Given the description of an element on the screen output the (x, y) to click on. 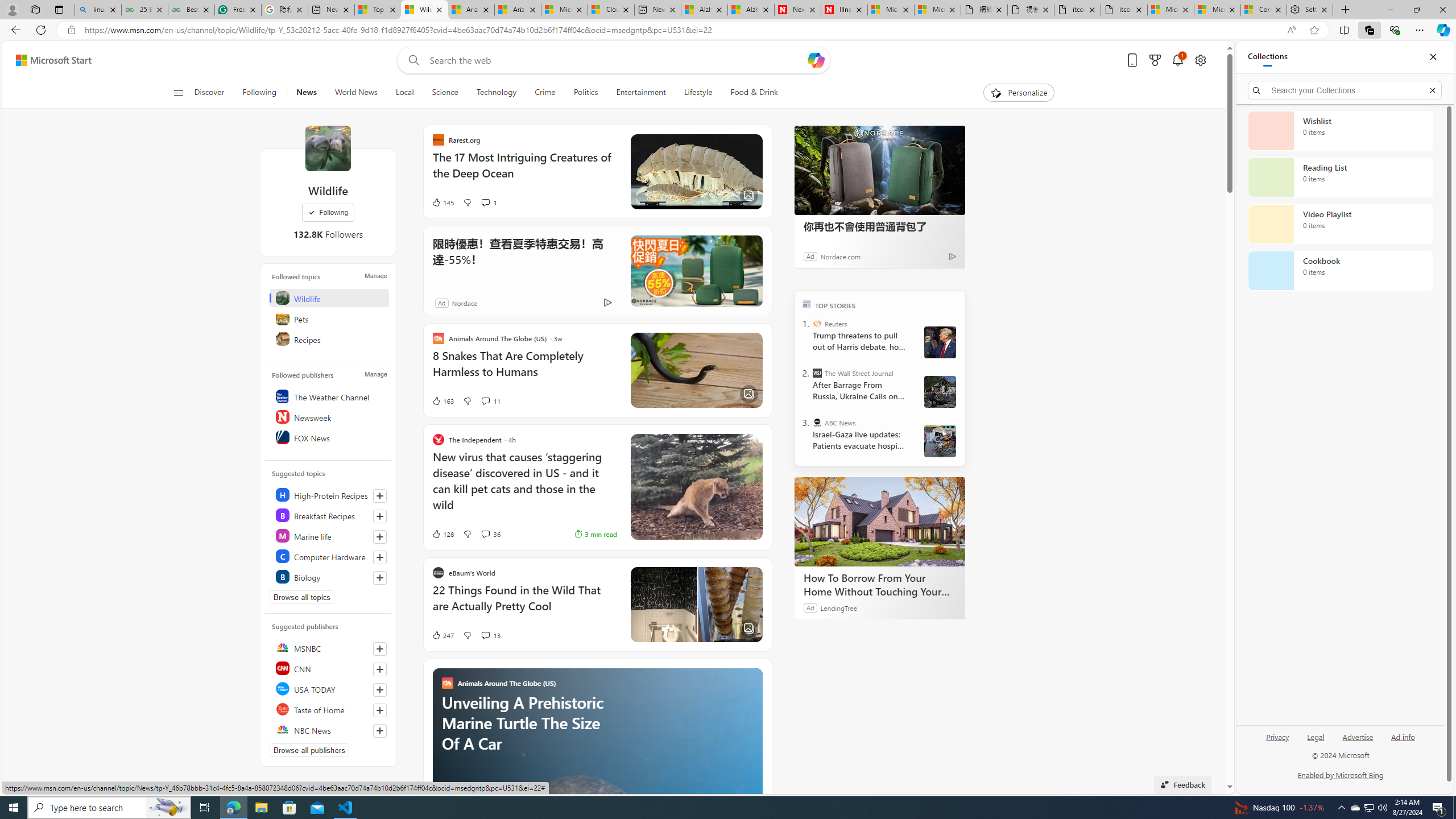
25 Basic Linux Commands For Beginners - GeeksforGeeks (144, 9)
View comments 13 Comment (490, 635)
8 Snakes That Are Completely Harmless to Humans (524, 369)
Rustrela Virus in Wild Mountain Lion 3 (696, 487)
